Given the description of an element on the screen output the (x, y) to click on. 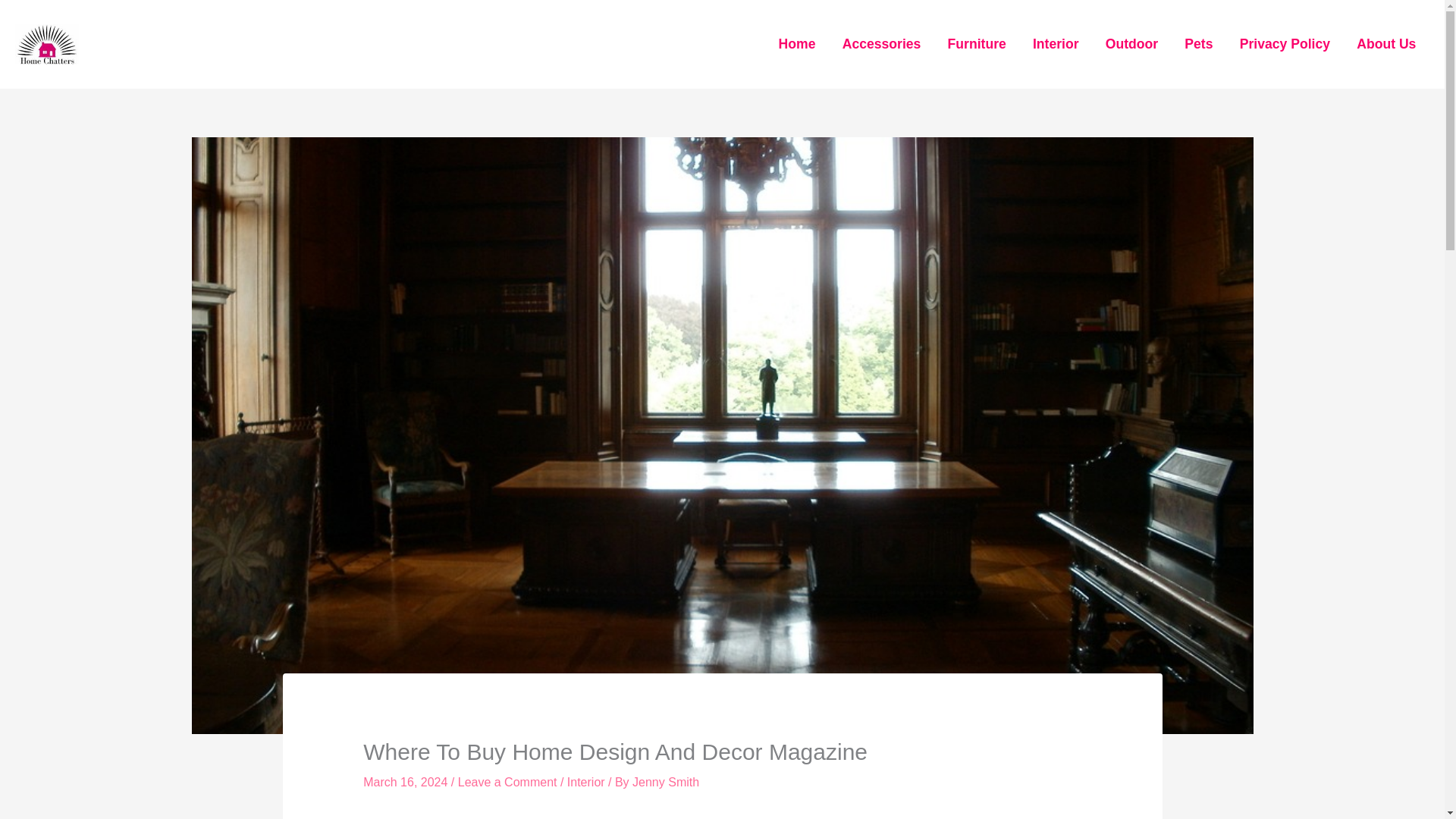
Leave a Comment (507, 781)
Furniture (976, 43)
Privacy Policy (1284, 43)
Pets (1198, 43)
Interior (586, 781)
Home (796, 43)
View all posts by Jenny Smith (664, 781)
Accessories (881, 43)
About Us (1386, 43)
Interior (1055, 43)
Jenny Smith (664, 781)
Outdoor (1132, 43)
